Given the description of an element on the screen output the (x, y) to click on. 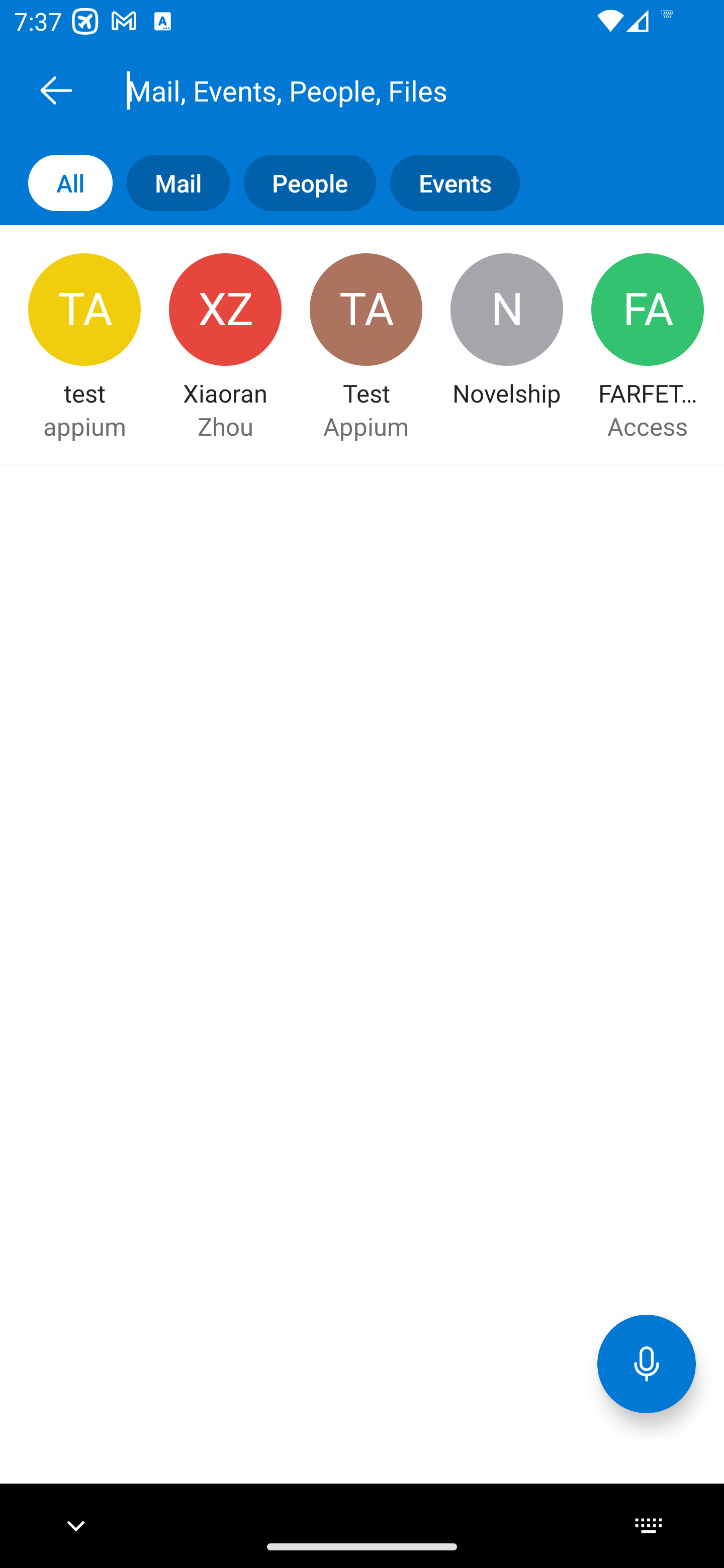
Back (55, 89)
Mail, Events, People, Files (384, 89)
Mail (170, 183)
People (302, 183)
Events (447, 183)
Voice Assistant (646, 1362)
